Given the description of an element on the screen output the (x, y) to click on. 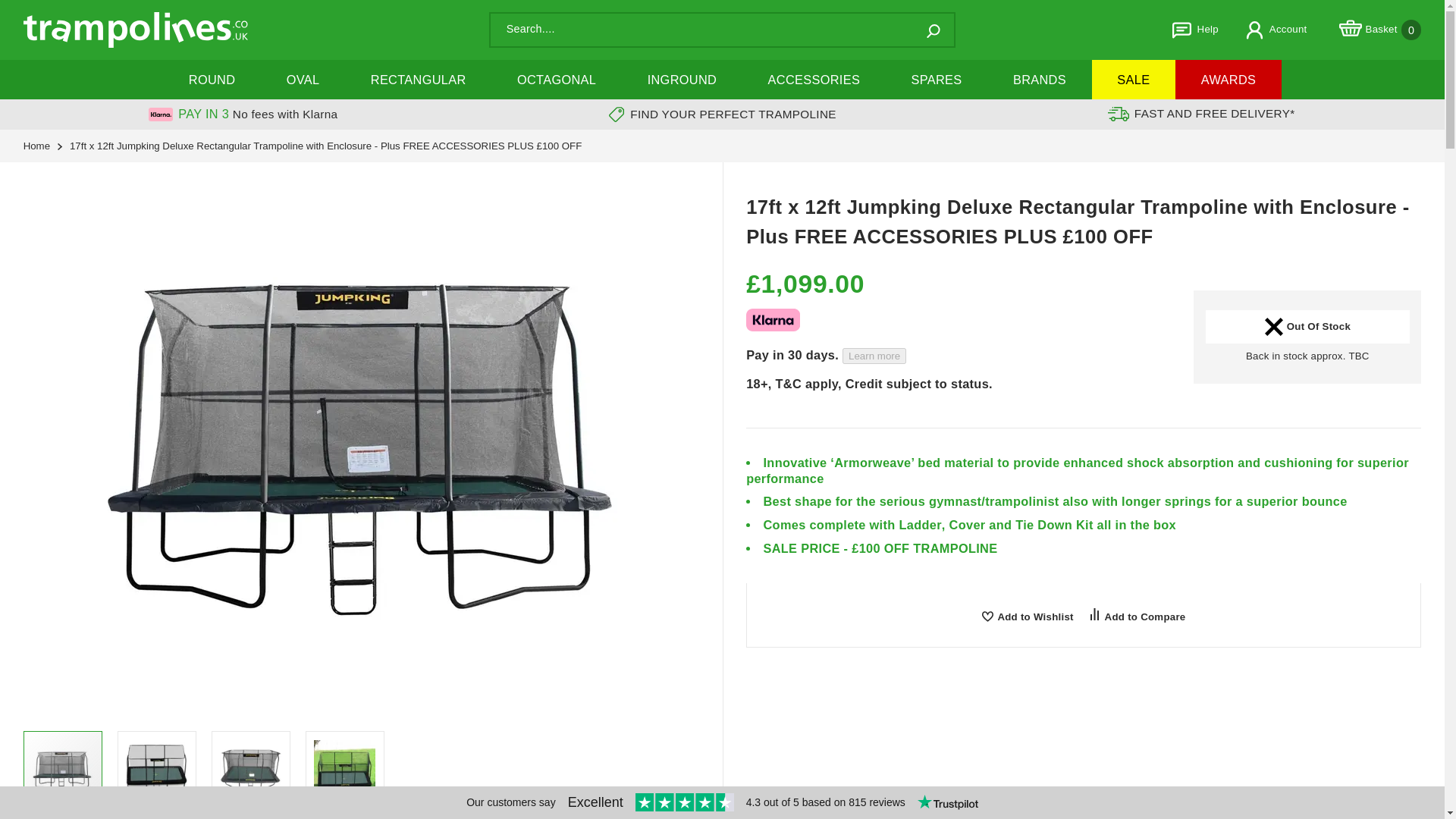
OVAL (302, 79)
Availability (1380, 29)
No fees with Klarna (1307, 326)
Go to Home Page (284, 113)
ROUND (36, 145)
